Given the description of an element on the screen output the (x, y) to click on. 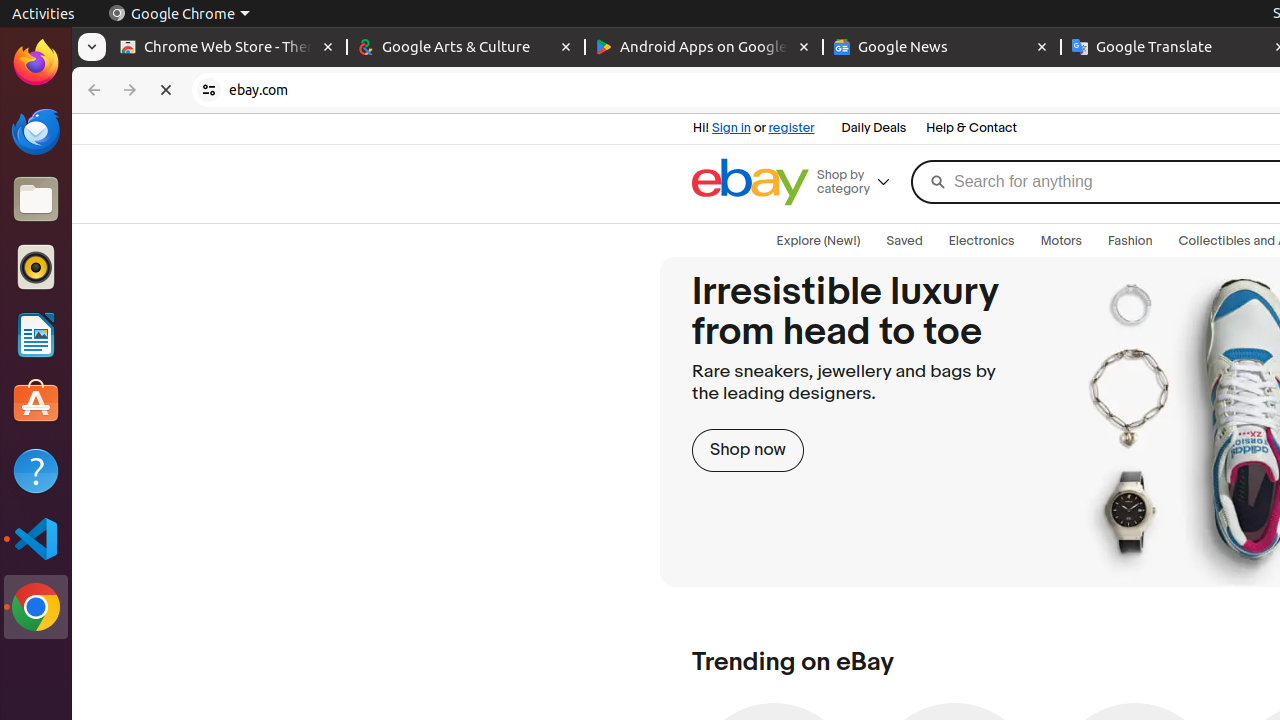
Android Apps on Google Play - Memory usage - 60.7 MB Element type: page-tab (704, 47)
Ubuntu Software Element type: push-button (36, 402)
Reload Element type: push-button (166, 90)
Google Chrome Element type: push-button (36, 607)
Saved Element type: link (904, 241)
